Given the description of an element on the screen output the (x, y) to click on. 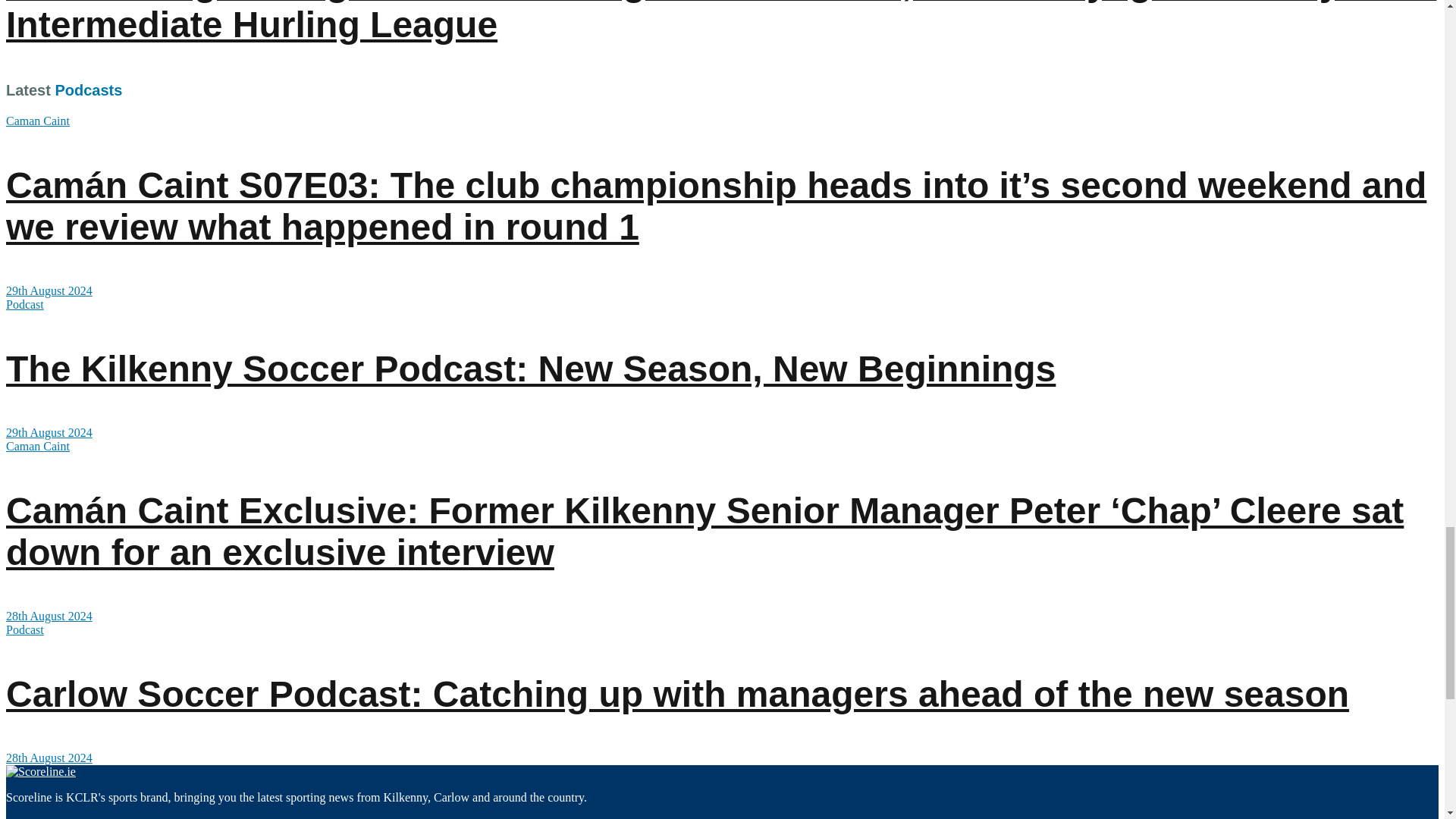
The Kilkenny Soccer Podcast: New Season, New Beginnings (530, 368)
Podcast (24, 304)
29th August 2024 (49, 290)
Caman Caint (37, 120)
